Given the description of an element on the screen output the (x, y) to click on. 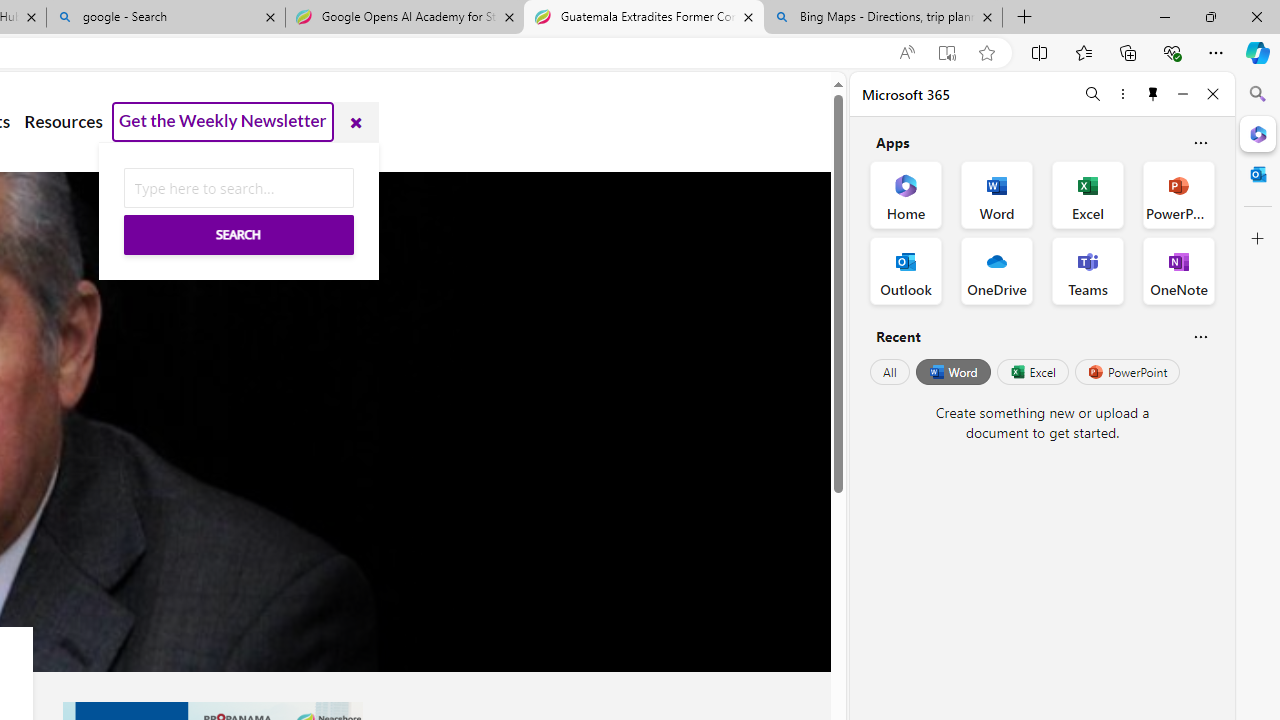
Resources (63, 121)
Is this helpful? (1200, 336)
All (890, 372)
Get the Weekly Newsletter (223, 121)
SEARCH (238, 234)
PowerPoint (1127, 372)
Teams Office App (1087, 270)
OneNote Office App (1178, 270)
